Given the description of an element on the screen output the (x, y) to click on. 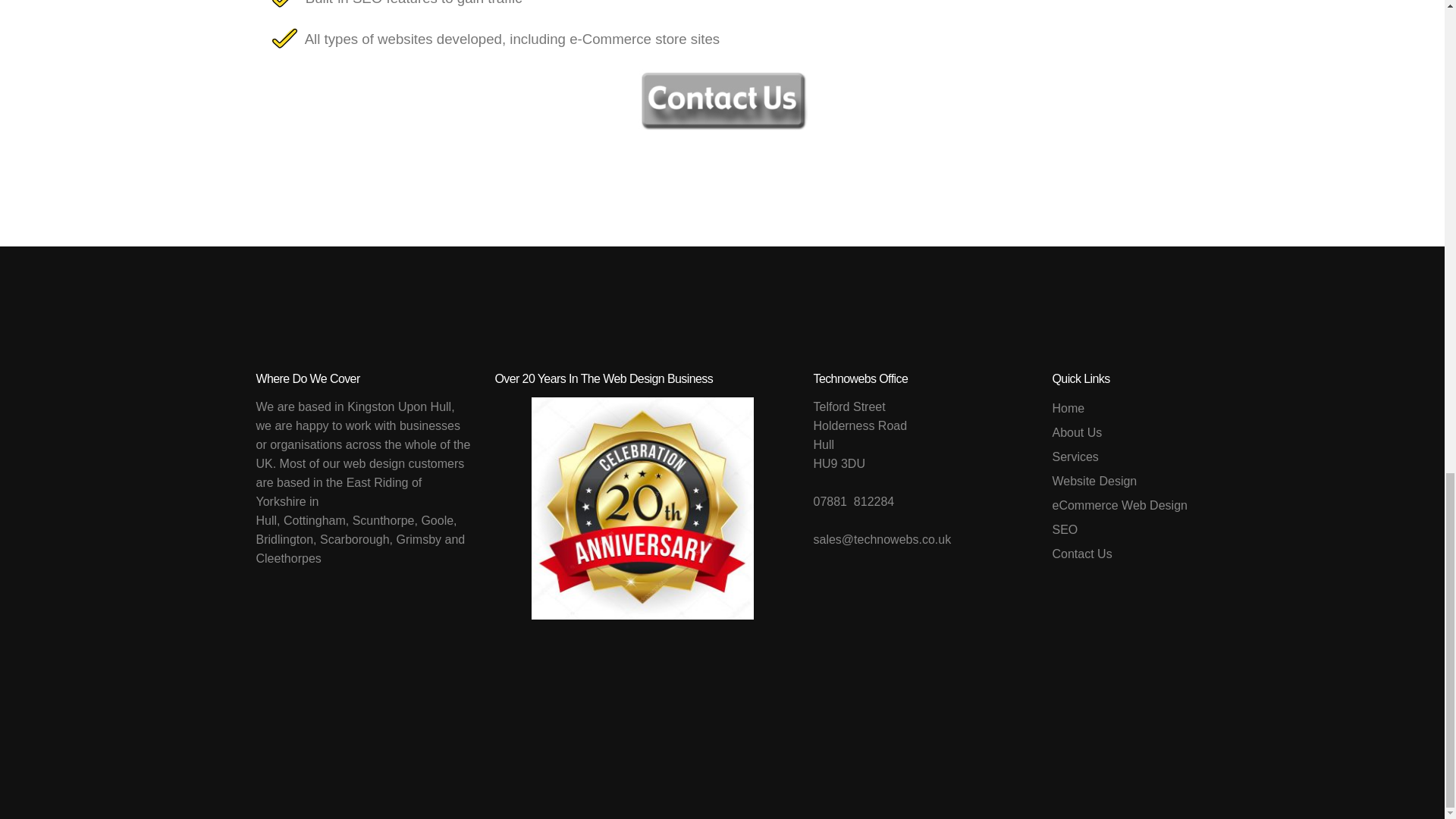
Website Design (1119, 481)
SEO (1119, 529)
Services (1119, 456)
Home (1119, 408)
eCommerce Web Design (1119, 505)
About Us (1119, 432)
Contact Us (1119, 553)
